Given the description of an element on the screen output the (x, y) to click on. 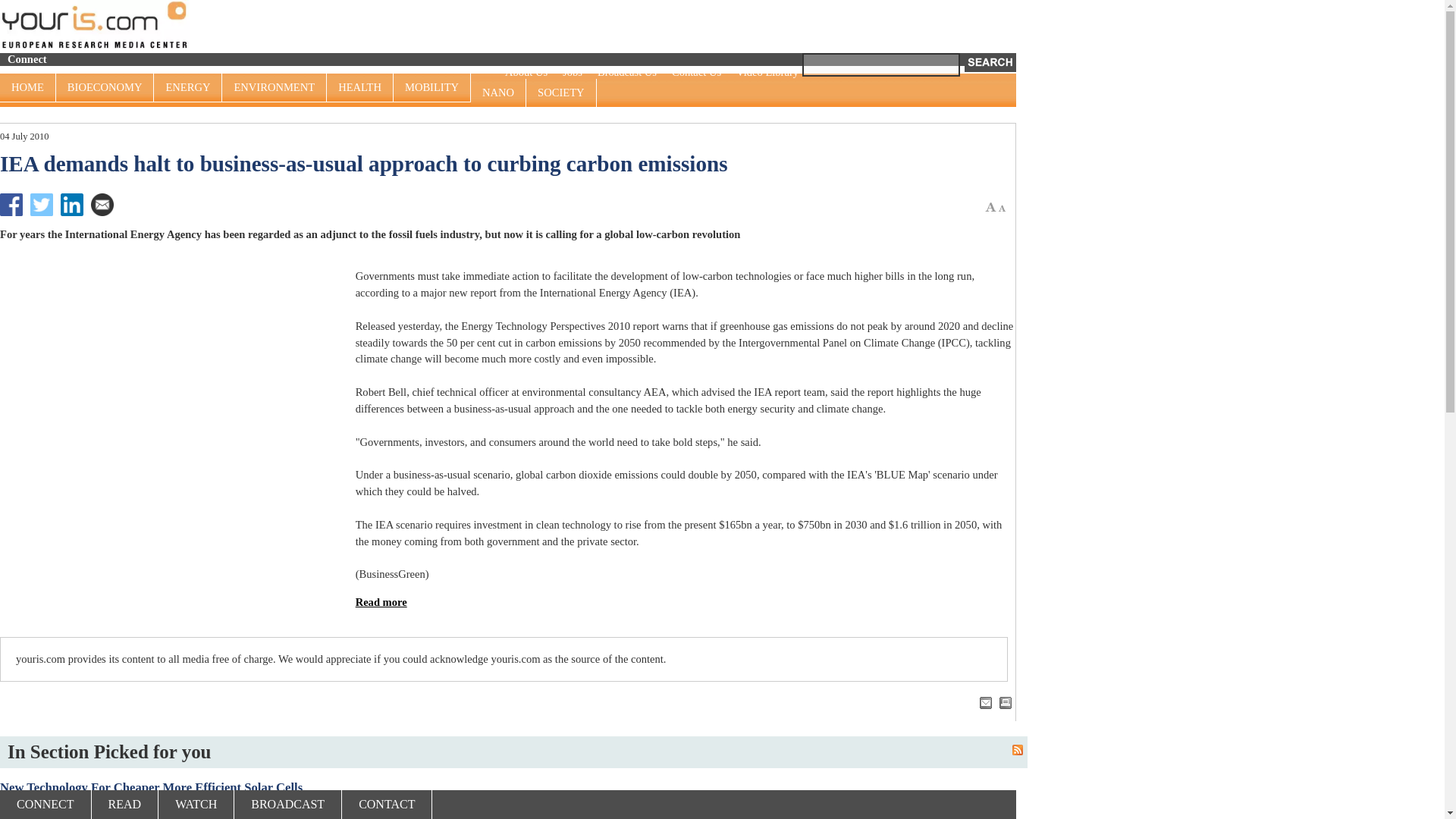
ENERGY (188, 87)
READ (124, 804)
Home page (94, 24)
Contact Us (696, 72)
Aumenta dimensioni testo (990, 206)
Aumenta dimensioni testo (990, 208)
Diminuisci dimensioni testo (1001, 208)
ENVIRONMENT (274, 87)
Broadcast Us (627, 72)
New Technology For Cheaper More Efficient Solar Cells (508, 787)
CONTACT (387, 804)
Esegui ricerca (989, 62)
SOCIETY (560, 92)
Diminuisci dimensioni testo (1001, 206)
BROADCAST (288, 804)
